Given the description of an element on the screen output the (x, y) to click on. 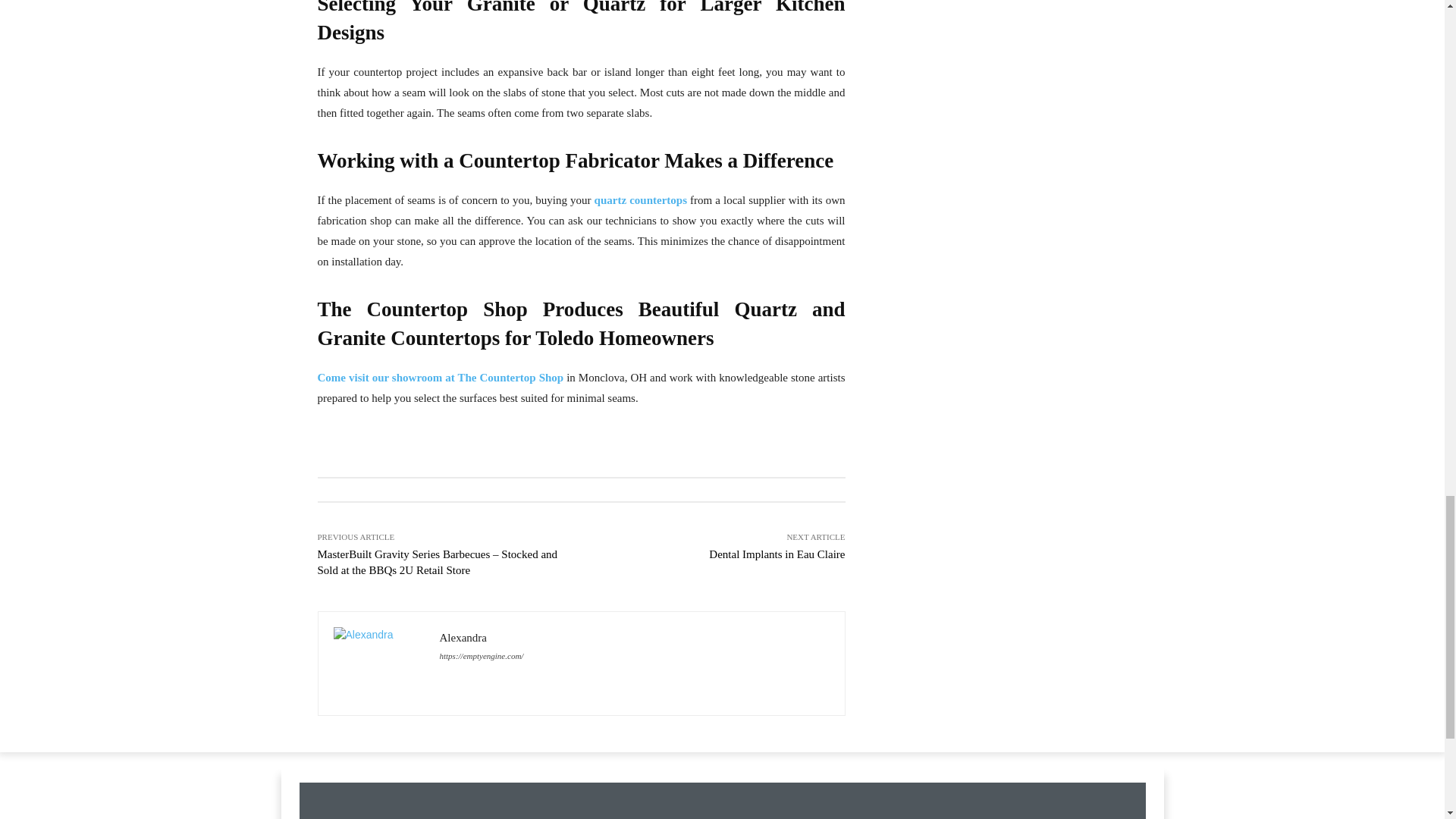
Alexandra (481, 637)
Alexandra (379, 663)
quartz countertops (640, 200)
Dental Implants in Eau Claire (776, 553)
Come visit our showroom at The Countertop Shop (440, 377)
